Given the description of an element on the screen output the (x, y) to click on. 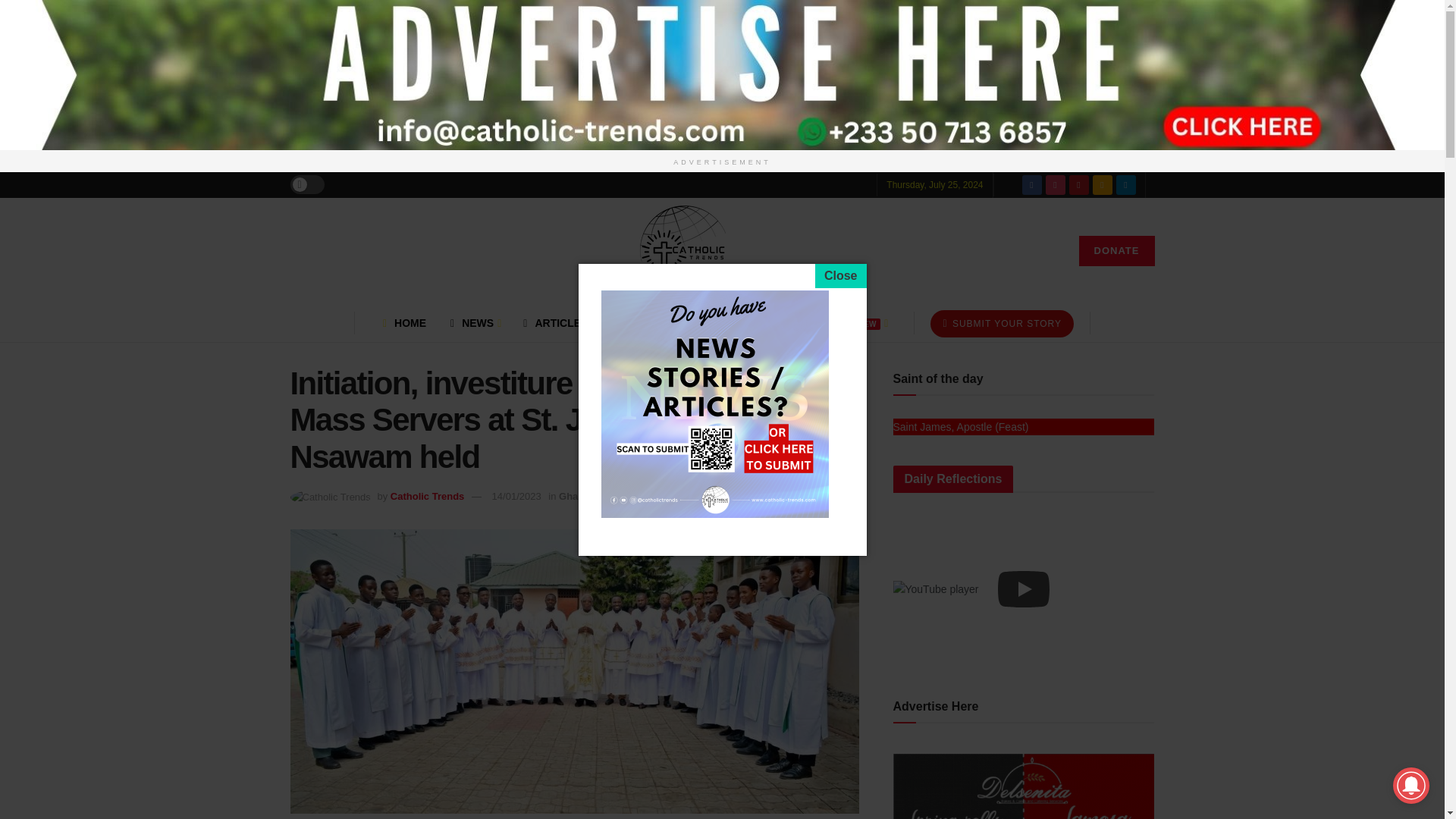
EDITORIALSNEW (829, 322)
PRAYERS (642, 322)
HOME (404, 322)
SUBMIT YOUR STORY (1002, 323)
NEWS (474, 322)
DONATE (1116, 250)
MEDIA (723, 322)
ARTICLES (555, 322)
